Given the description of an element on the screen output the (x, y) to click on. 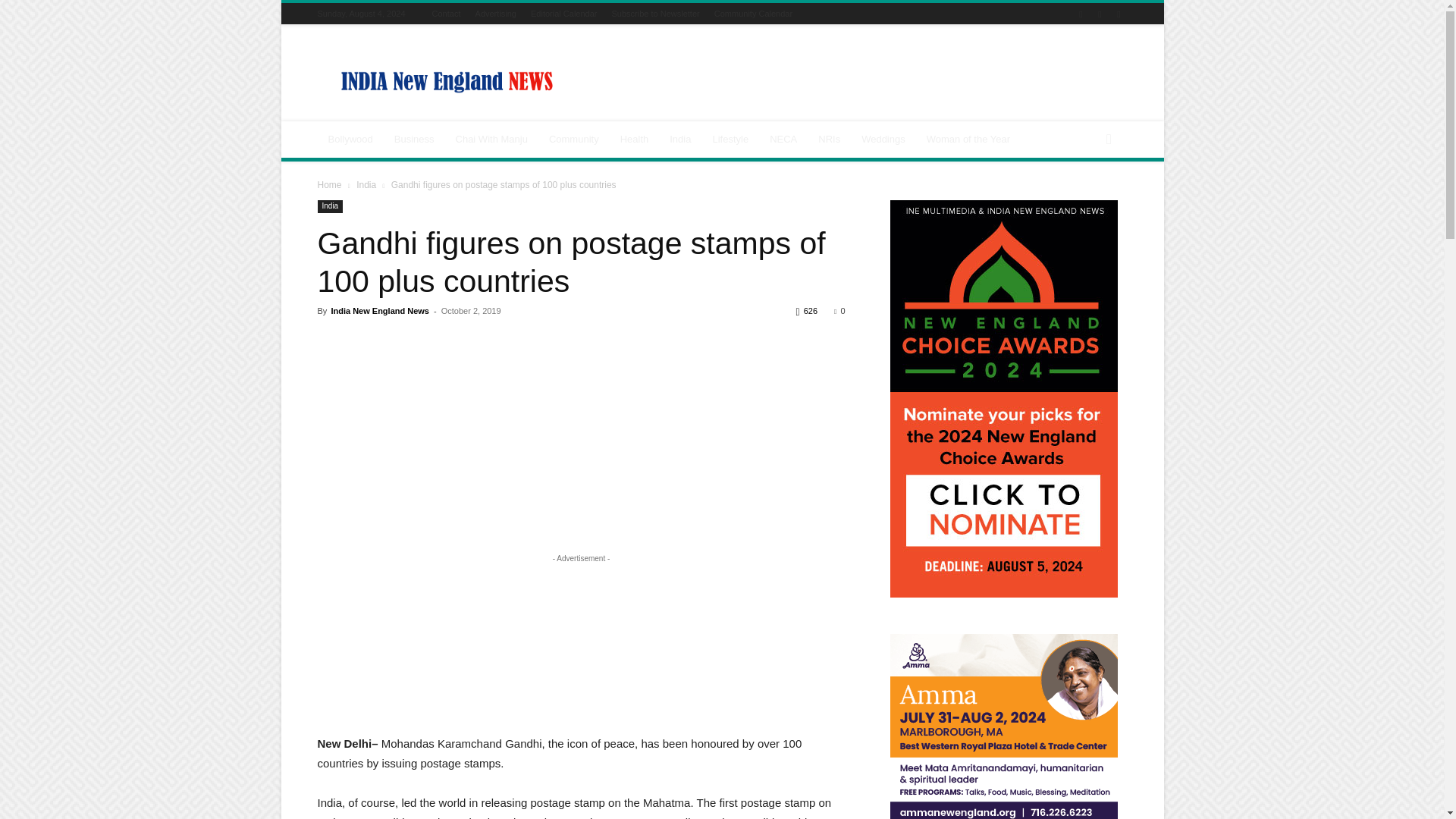
Editorial Calendar (563, 13)
NECA (783, 139)
Community Calendar (753, 13)
Subscribe to Newsletter (655, 13)
Community (574, 139)
Contact (446, 13)
Woman of the Year (967, 139)
Health (634, 139)
Bollywood (349, 139)
Weddings (882, 139)
Chai With Manju (491, 139)
Business (414, 139)
Lifestyle (729, 139)
Advertising (496, 13)
NRIs (829, 139)
